Given the description of an element on the screen output the (x, y) to click on. 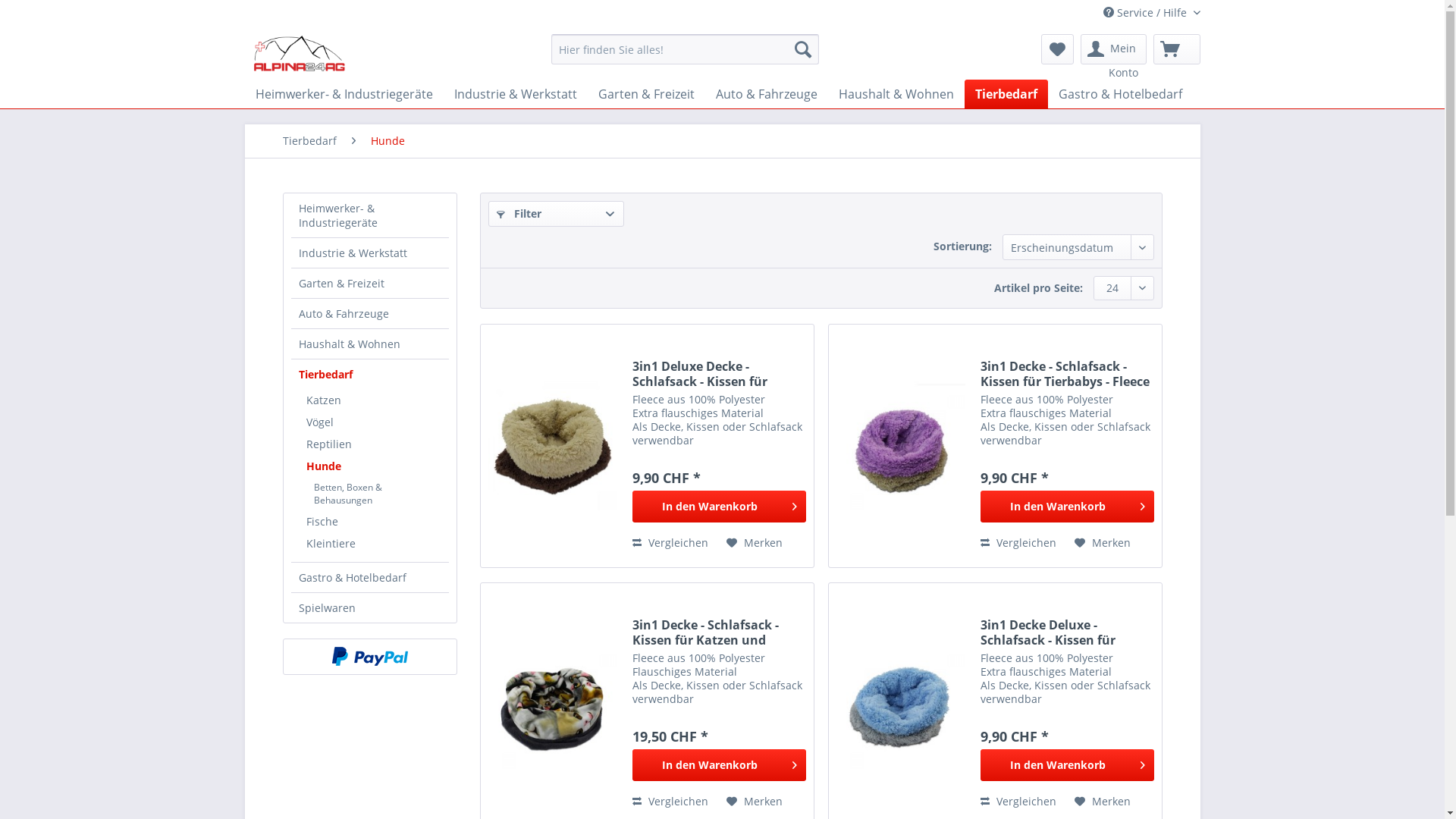
Merken Element type: text (754, 542)
Garten & Freizeit Element type: text (645, 93)
Vergleichen Element type: text (670, 542)
Tierbedarf Element type: text (1006, 93)
Haushalt & Wohnen Element type: text (369, 343)
Tierbedarf Element type: text (369, 374)
Merken Element type: text (1102, 801)
Industrie & Werkstatt Element type: text (369, 252)
Auto & Fahrzeuge Element type: text (369, 313)
Vergleichen Element type: text (1018, 542)
Betten, Boxen & Behausungen Element type: text (377, 493)
Hunde Element type: text (373, 465)
Merken Element type: text (1102, 542)
Industrie & Werkstatt Element type: text (514, 93)
Vergleichen Element type: text (1018, 801)
Katzen Element type: text (373, 400)
Gastro & Hotelbedarf Element type: text (1120, 93)
Vergleichen Element type: text (670, 801)
Mein
Konto Element type: text (1112, 49)
Warenkorb Element type: hover (1175, 49)
In den Warenkorb Element type: text (1067, 506)
Filter Element type: text (556, 213)
Wir akzeptieren PayPal Element type: hover (369, 656)
Auto & Fahrzeuge Element type: text (766, 93)
Garten & Freizeit Element type: text (369, 283)
Fische Element type: text (373, 521)
In den Warenkorb Element type: text (1067, 765)
Haushalt & Wohnen Element type: text (896, 93)
Merkzettel Element type: hover (1056, 49)
Spielwaren Element type: hover (1234, 93)
Kleintiere Element type: text (373, 543)
Merken Element type: text (754, 801)
Gastro & Hotelbedarf Element type: text (369, 577)
In den Warenkorb Element type: text (719, 506)
Reptilien Element type: text (373, 444)
In den Warenkorb Element type: text (719, 765)
Hunde Element type: text (386, 140)
Tierbedarf Element type: text (308, 140)
Spielwaren Element type: text (369, 607)
